Given the description of an element on the screen output the (x, y) to click on. 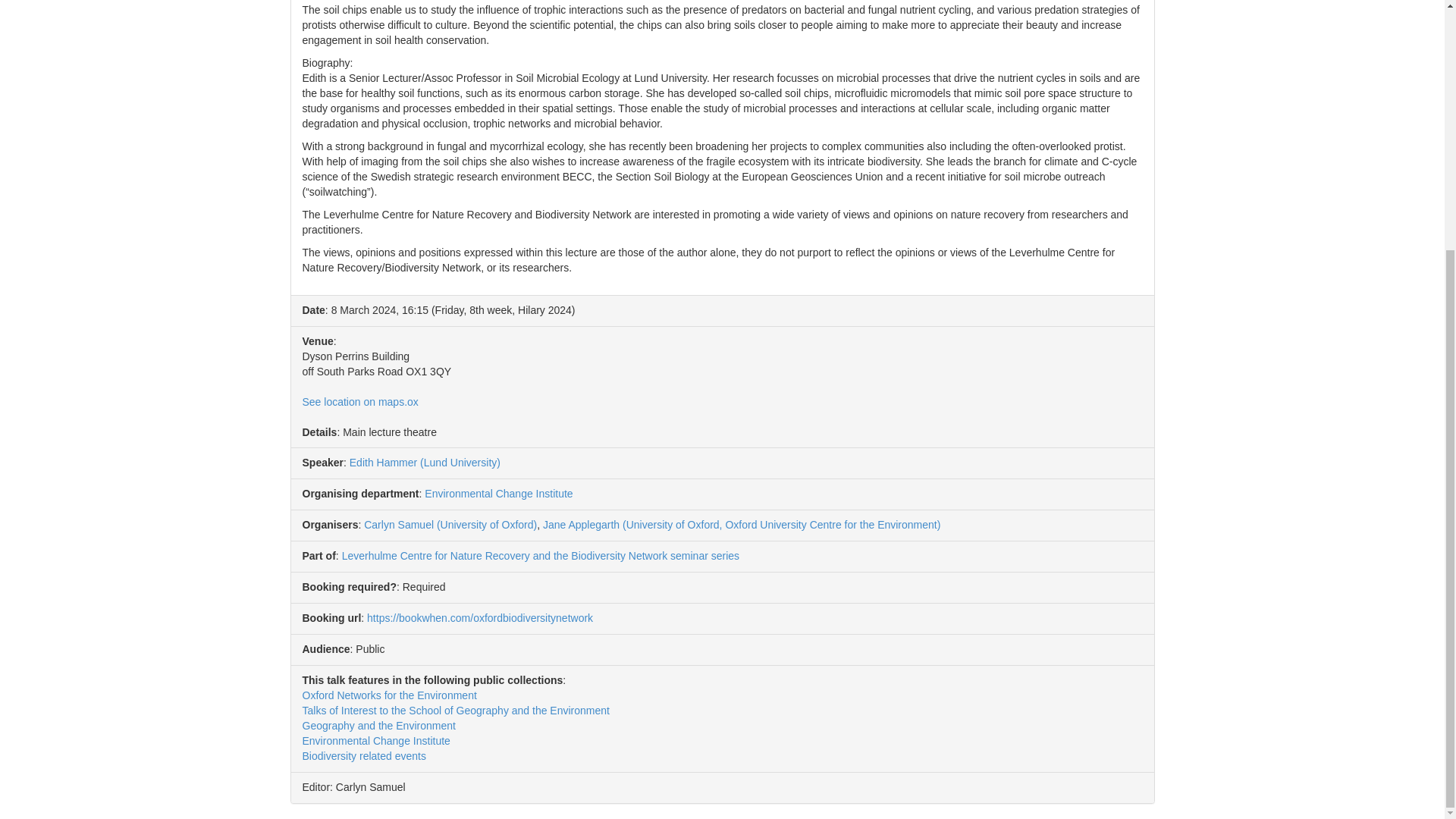
Geography and the Environment (377, 725)
Biodiversity related events (363, 756)
Environmental Change Institute (375, 740)
Environmental Change Institute (498, 493)
Oxford Networks for the Environment (388, 695)
See location on maps.ox (359, 401)
